Given the description of an element on the screen output the (x, y) to click on. 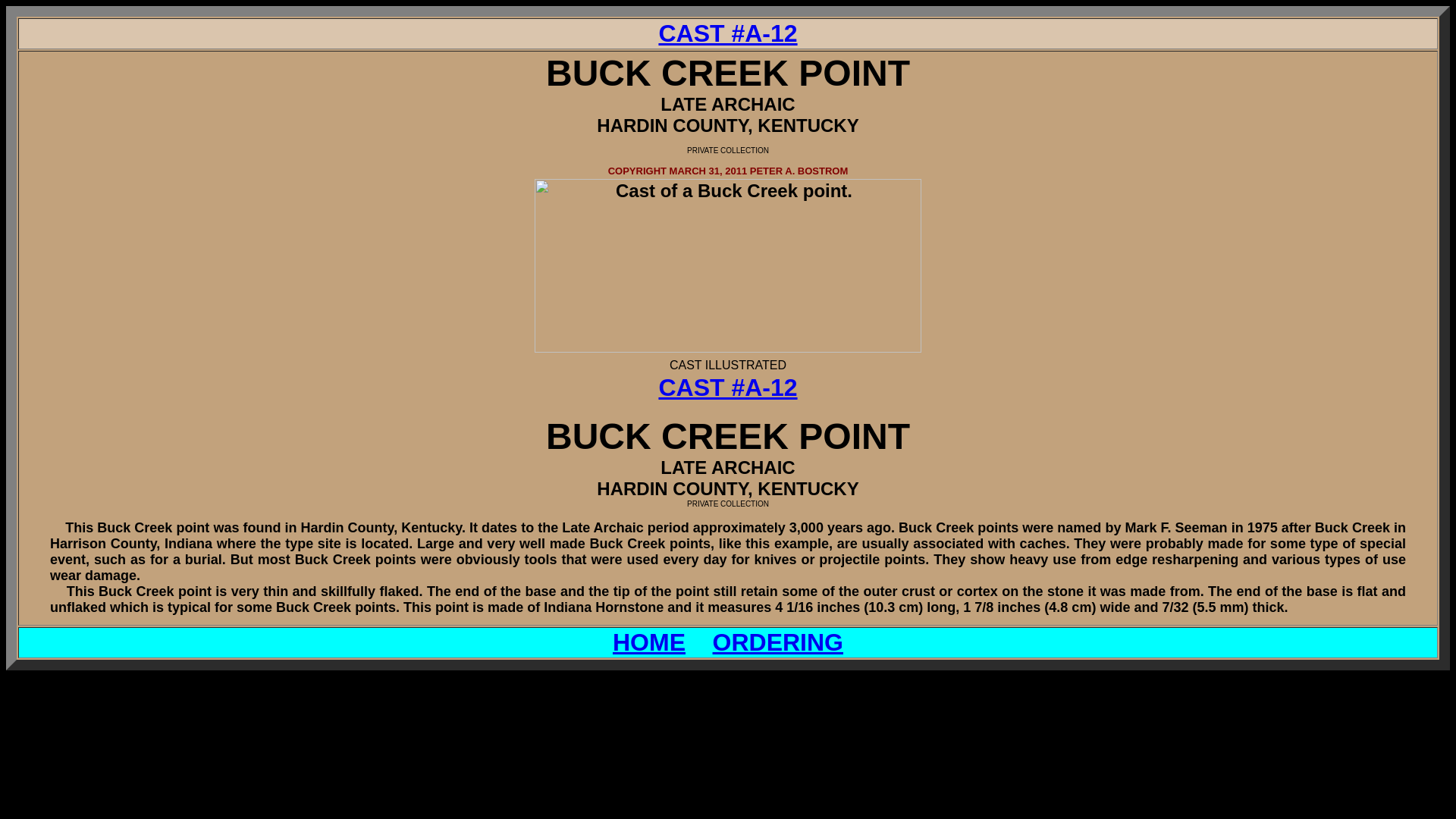
ORDERING (778, 642)
HOME (648, 642)
